Given the description of an element on the screen output the (x, y) to click on. 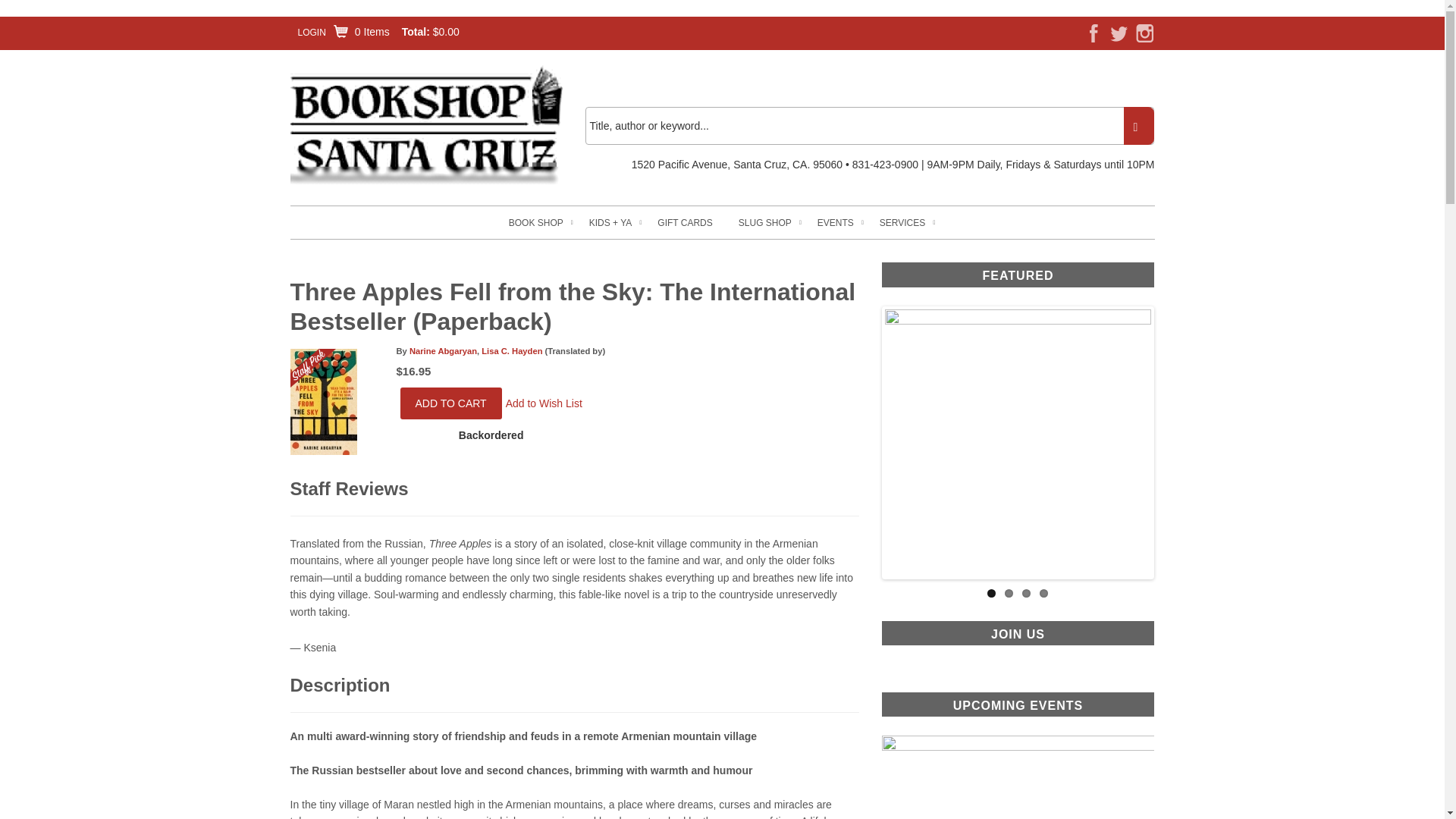
BOOK SHOP (535, 222)
Home (425, 124)
Title, author or keyword... (869, 125)
LOGIN (311, 32)
Add to Cart (451, 403)
